Given the description of an element on the screen output the (x, y) to click on. 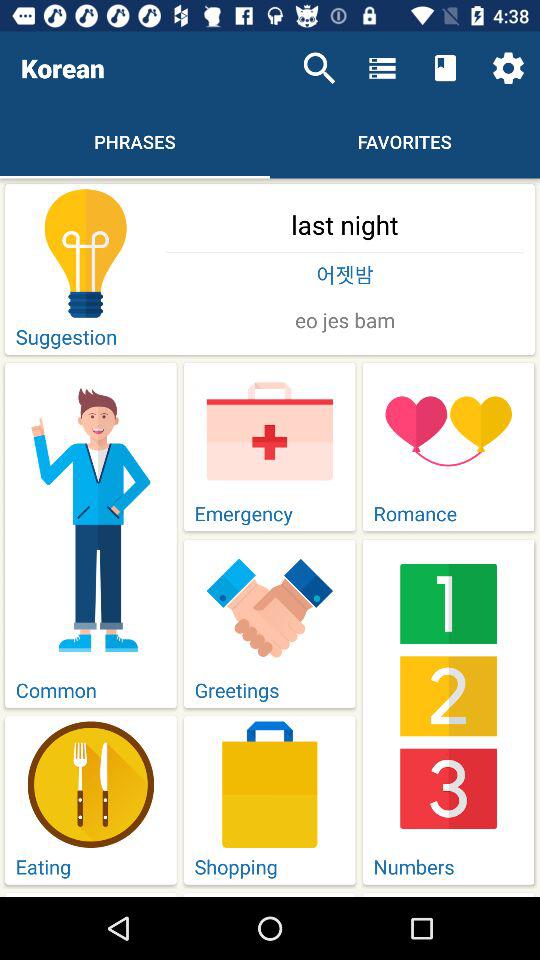
select the item above last night item (319, 67)
